Given the description of an element on the screen output the (x, y) to click on. 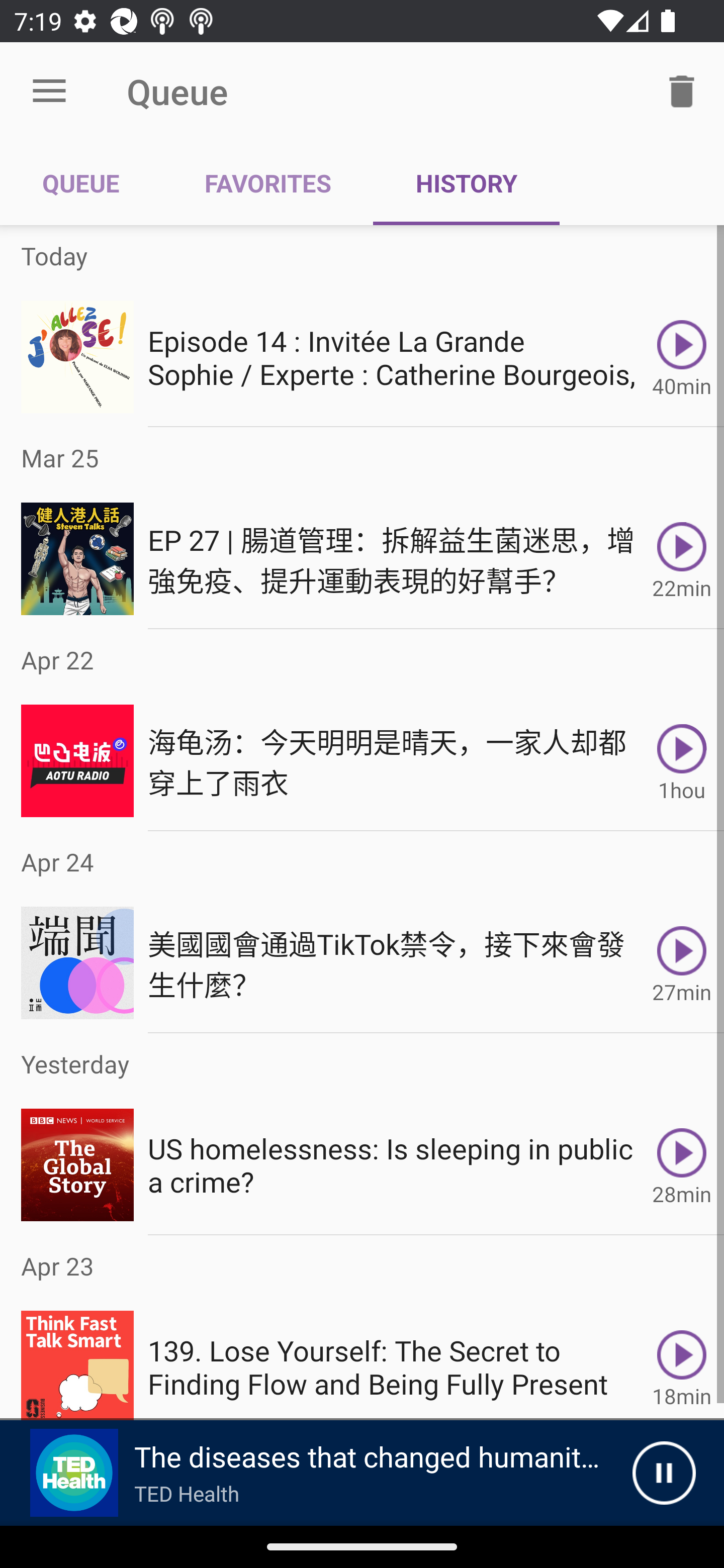
Open menu (49, 91)
Clear History (681, 90)
QUEUE (81, 183)
FAVORITES (267, 183)
HISTORY (465, 183)
Play 40min (681, 356)
Play 22min (681, 558)
Apr 22 海龟汤：今天明明是晴天，一家人却都穿上了雨衣 Play 1hou (362, 729)
Play 1hou (681, 760)
Apr 24 美國國會通過TikTok禁令，接下來會發生什麼？ Play 27min (362, 932)
Play 27min (681, 962)
Play 28min (681, 1164)
Play 18min (681, 1358)
Pause (663, 1472)
